Given the description of an element on the screen output the (x, y) to click on. 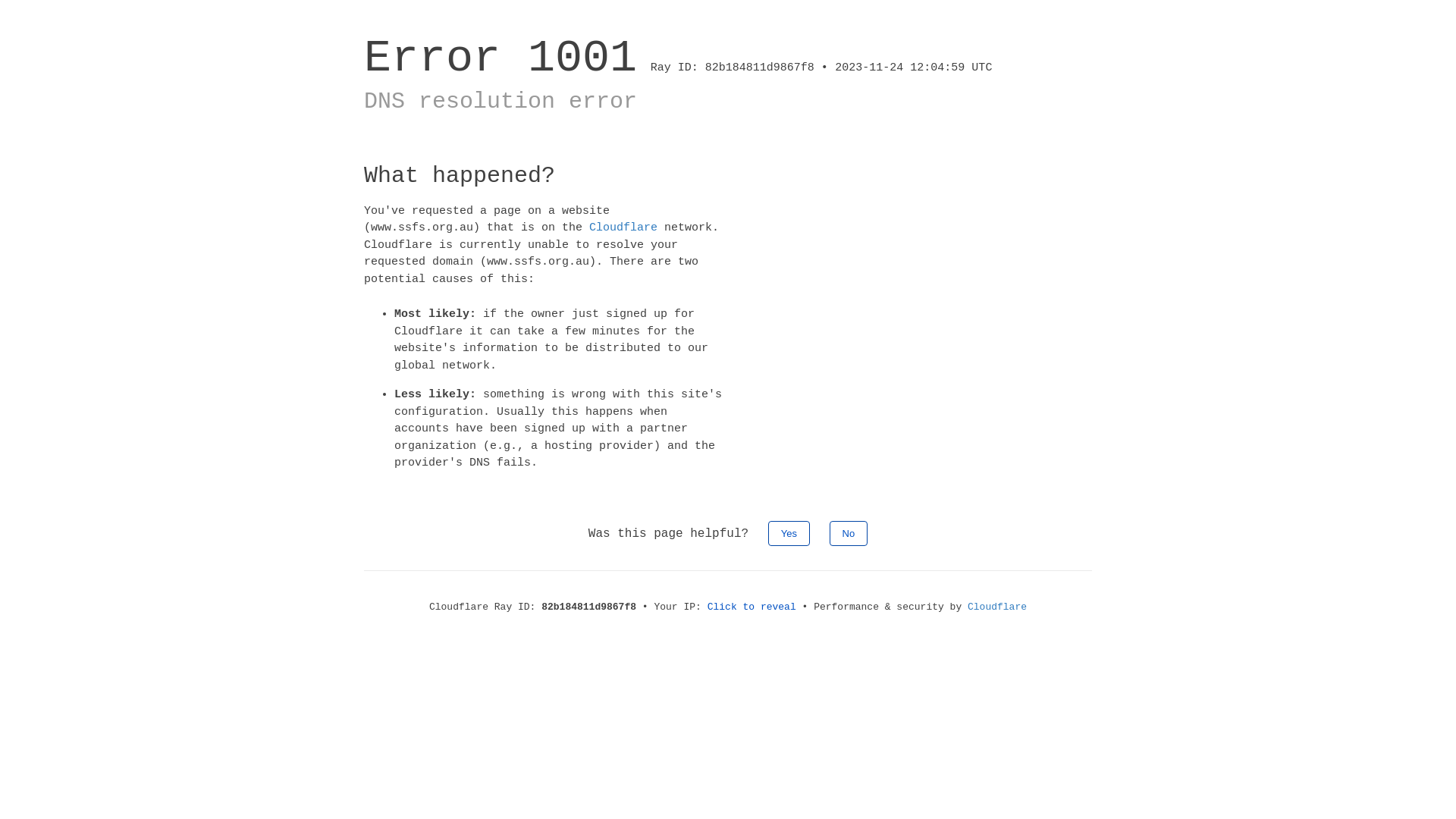
Click to reveal Element type: text (751, 605)
No Element type: text (848, 532)
Cloudflare Element type: text (623, 227)
Cloudflare Element type: text (996, 605)
Yes Element type: text (788, 532)
